Given the description of an element on the screen output the (x, y) to click on. 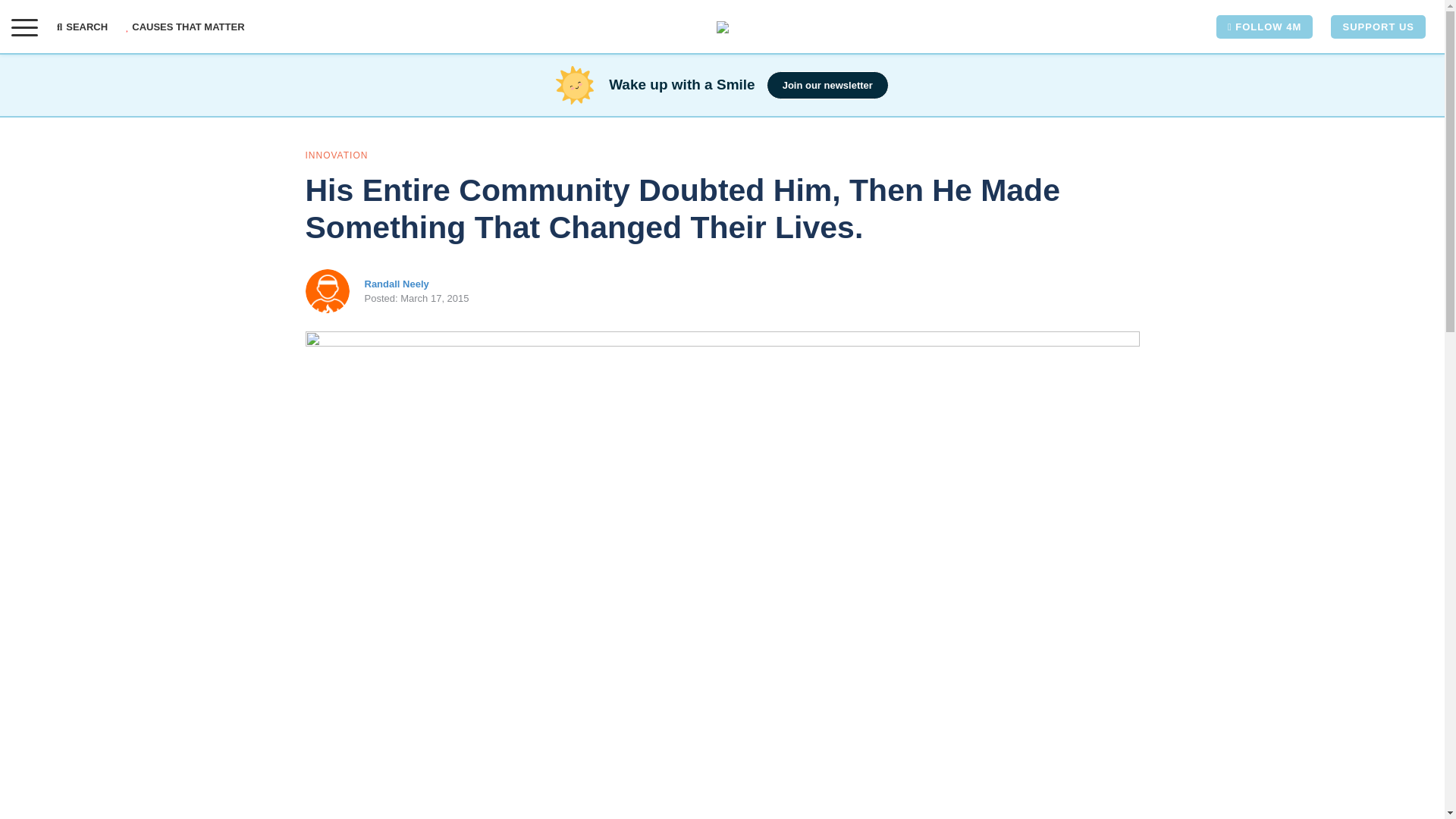
SUPPORT US (1377, 26)
SEARCH (86, 26)
Randall Neely (396, 283)
CAUSES THAT MATTER (184, 26)
INNOVATION (336, 154)
FOLLOW 4M (1264, 26)
Join our newsletter (827, 85)
